Given the description of an element on the screen output the (x, y) to click on. 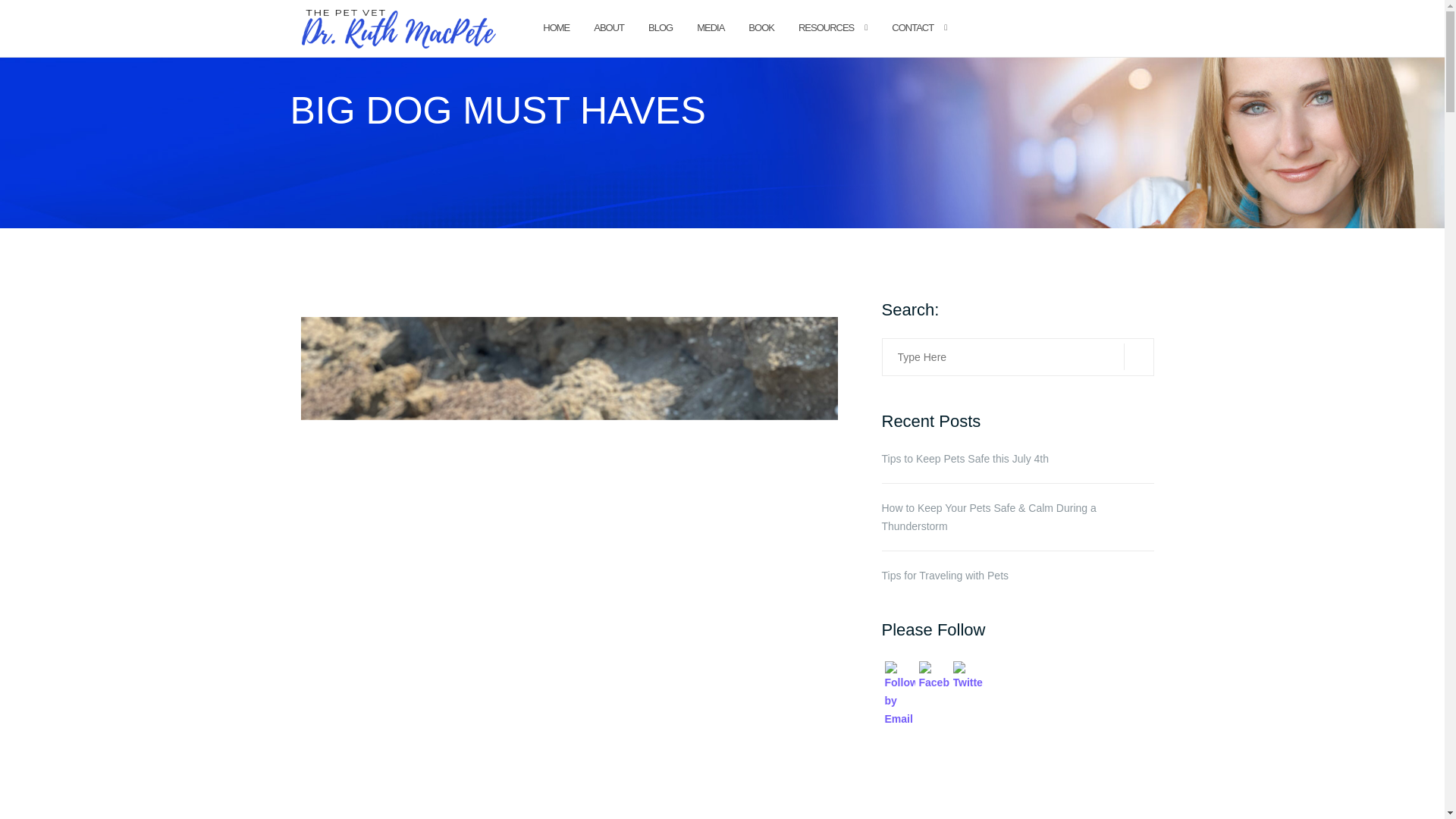
CONTACT (912, 29)
Facebook (933, 675)
RESOURCES (825, 29)
Contact (912, 29)
Resources (825, 29)
